Given the description of an element on the screen output the (x, y) to click on. 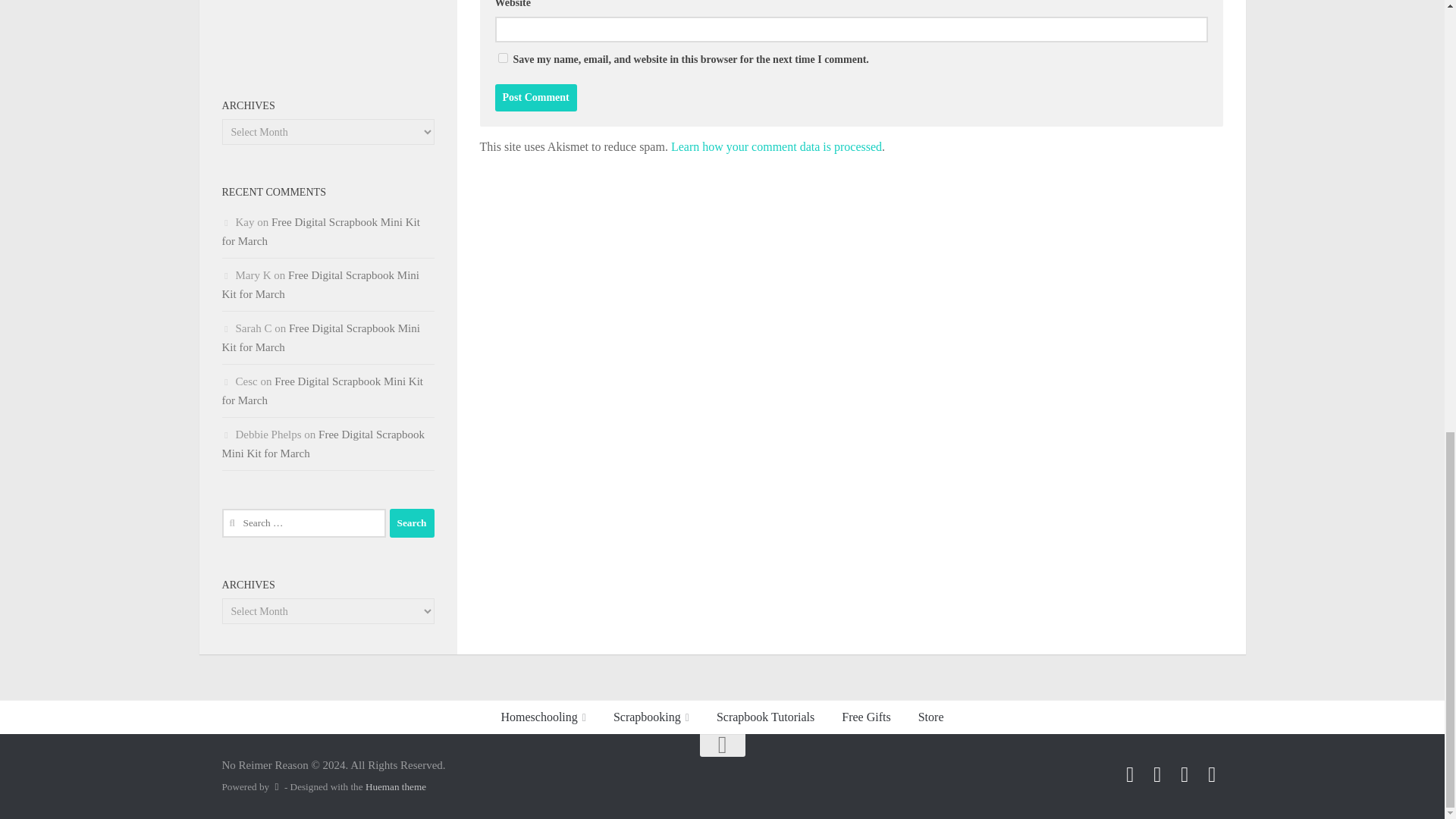
Search (411, 522)
Powered by WordPress (275, 786)
Post Comment (535, 97)
Hueman theme (395, 786)
Search (411, 522)
Post Comment (535, 97)
yes (501, 58)
Learn how your comment data is processed (776, 146)
